Given the description of an element on the screen output the (x, y) to click on. 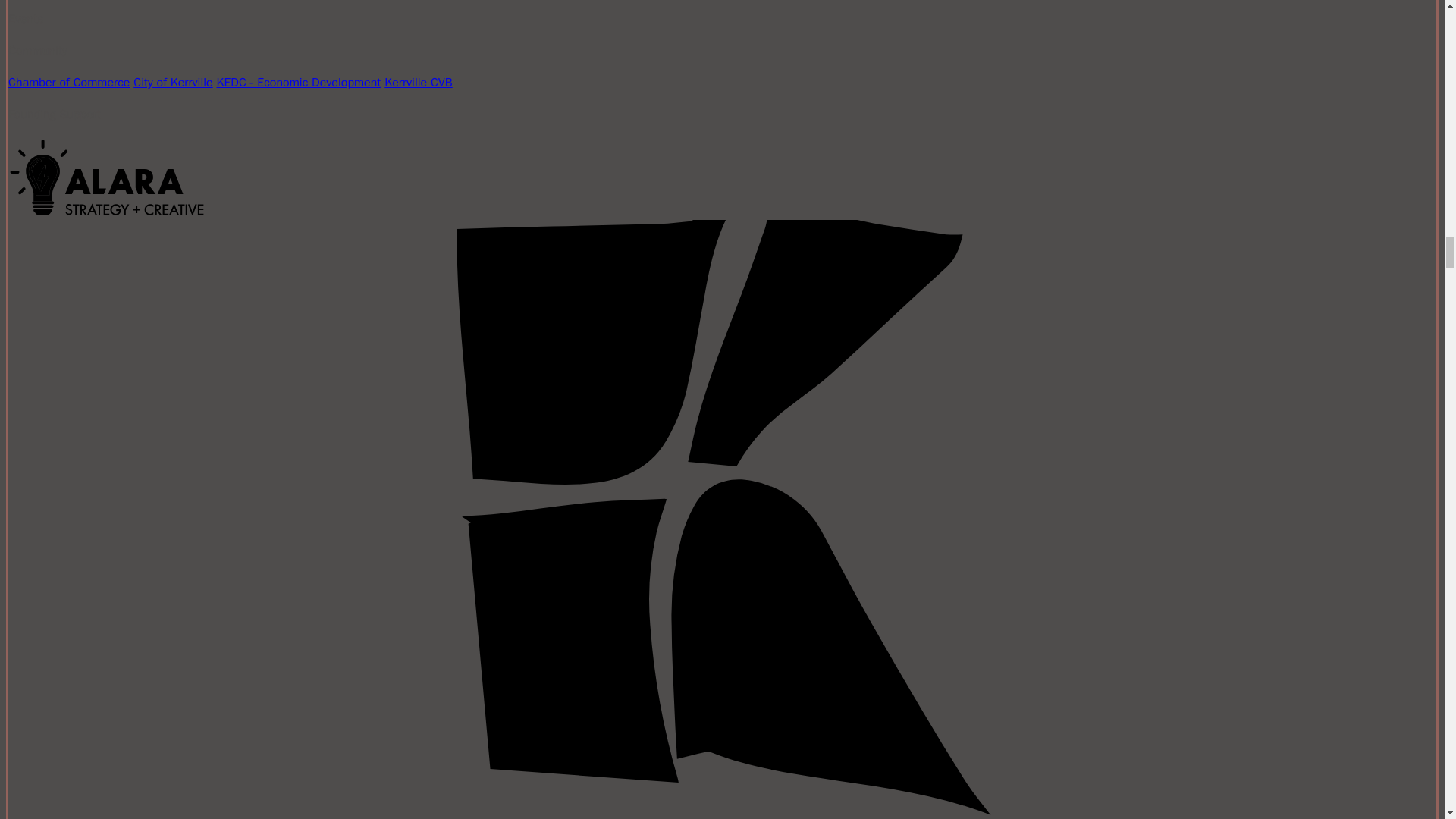
Chamber of Commerce (68, 82)
Kerrville CVB (417, 82)
Alara Creative (106, 211)
City of Kerrville (172, 82)
Alara Creative (106, 177)
KEDC - Economic Development (297, 82)
